Given the description of an element on the screen output the (x, y) to click on. 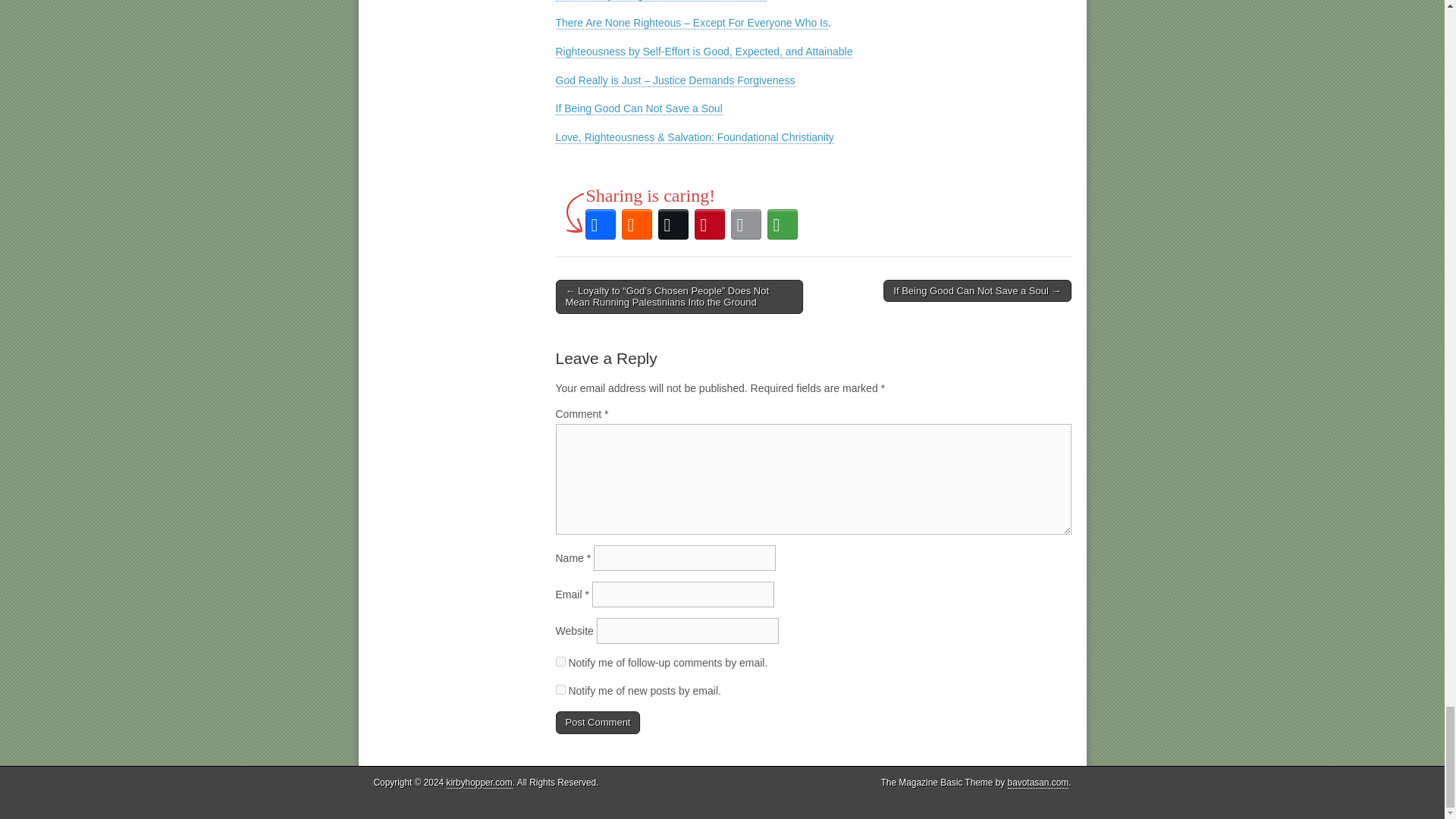
Email This (746, 224)
Reddit (636, 224)
subscribe (559, 661)
More Options (782, 224)
Post Comment (597, 722)
Facebook (600, 224)
Pinterest (709, 224)
If Being Good Can Not Save a Soul (638, 108)
subscribe (559, 689)
